Given the description of an element on the screen output the (x, y) to click on. 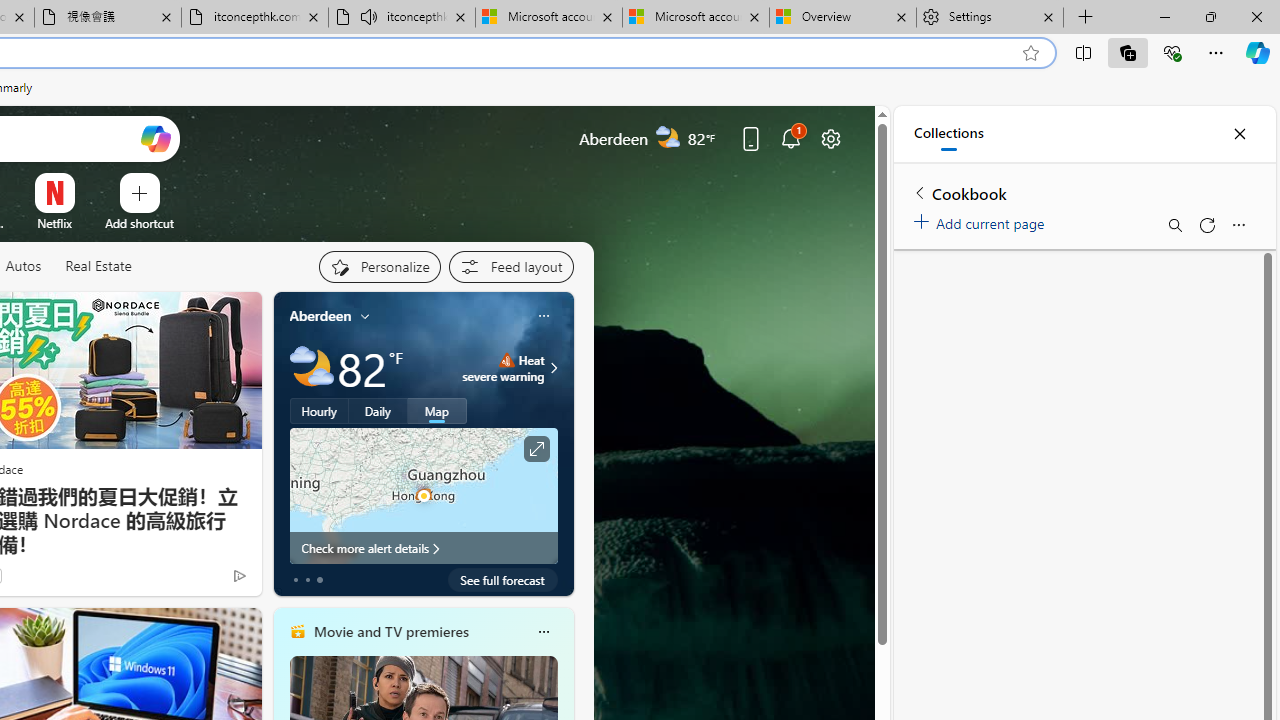
Feed settings (510, 266)
itconcepthk.com/projector_solutions.mp4 (254, 17)
Overview (843, 17)
Real Estate (98, 265)
Add a site (139, 223)
Heat - Severe Heat severe warning (503, 367)
More options menu (1238, 224)
